Given the description of an element on the screen output the (x, y) to click on. 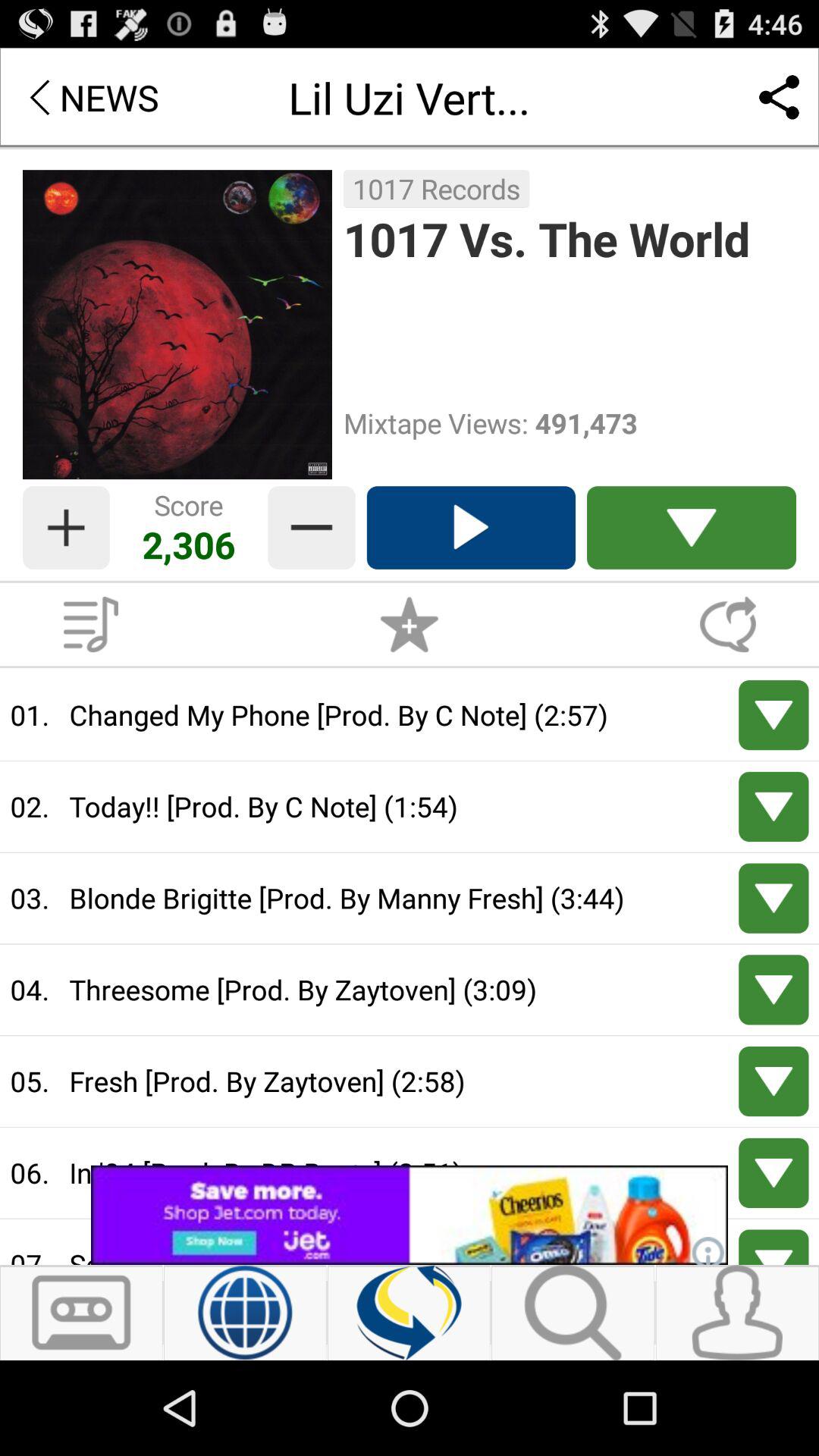
reload (408, 1312)
